Given the description of an element on the screen output the (x, y) to click on. 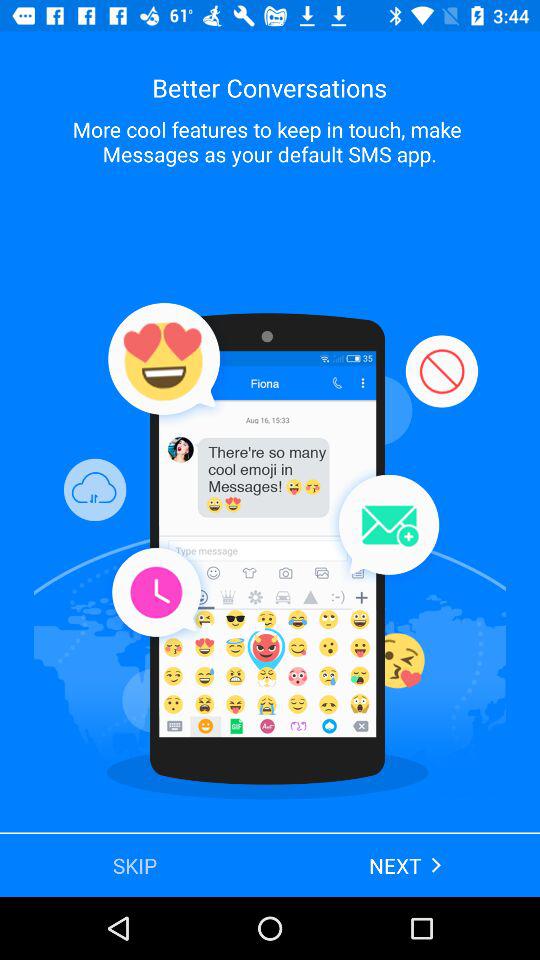
press the skip at the bottom left corner (135, 864)
